Given the description of an element on the screen output the (x, y) to click on. 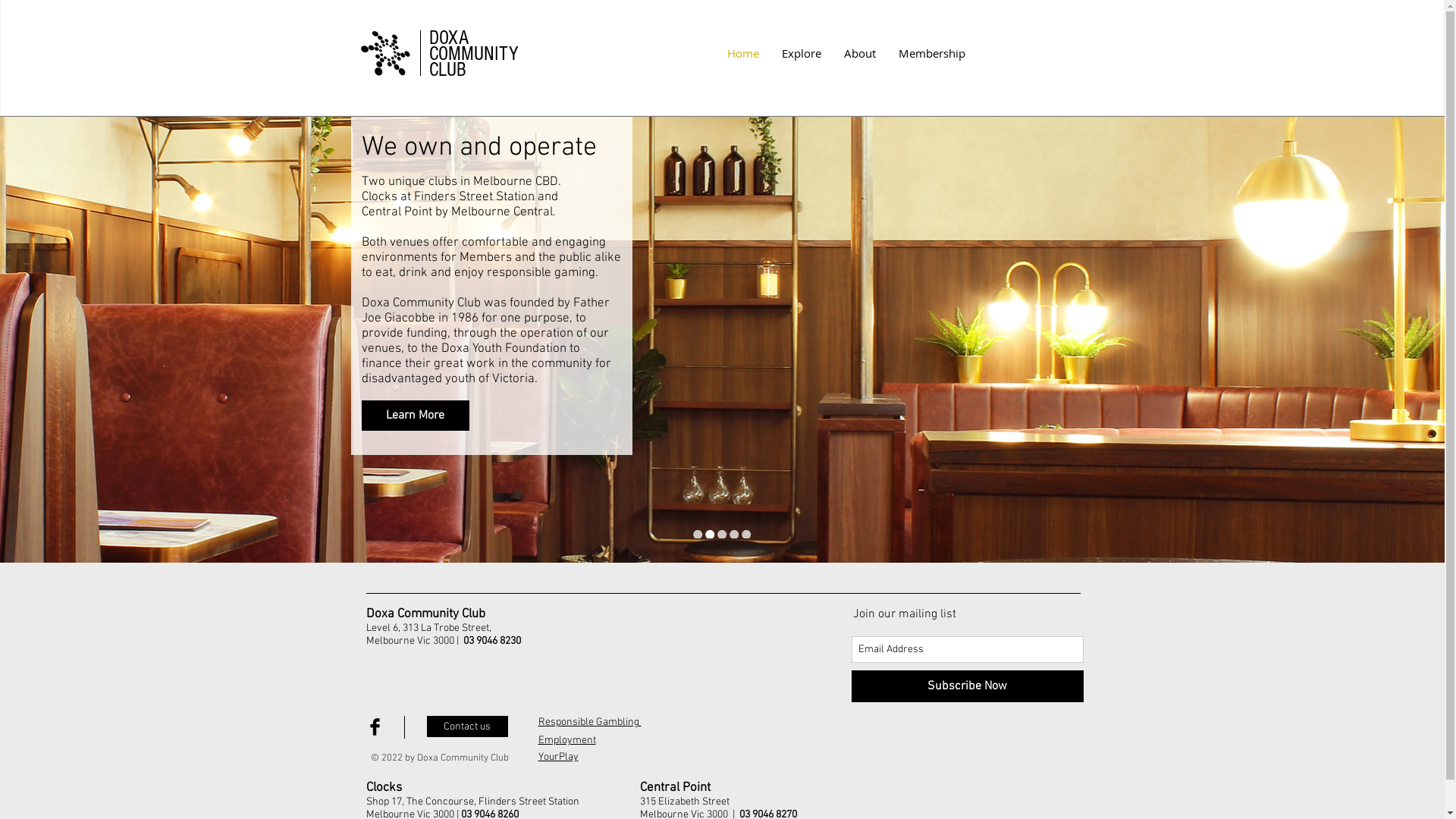
CLUB Element type: text (447, 69)
Learn More Element type: text (414, 415)
Employment Element type: text (567, 740)
YourPlay Element type: text (558, 756)
Contact us Element type: text (466, 726)
Explore Element type: text (801, 52)
About Element type: text (859, 52)
Home Element type: text (742, 52)
Responsible Gambling  Element type: text (589, 721)
DOXA Element type: text (448, 37)
Subscribe Now Element type: text (966, 686)
COMMUNITY Element type: text (473, 53)
Membership Element type: text (931, 52)
